Given the description of an element on the screen output the (x, y) to click on. 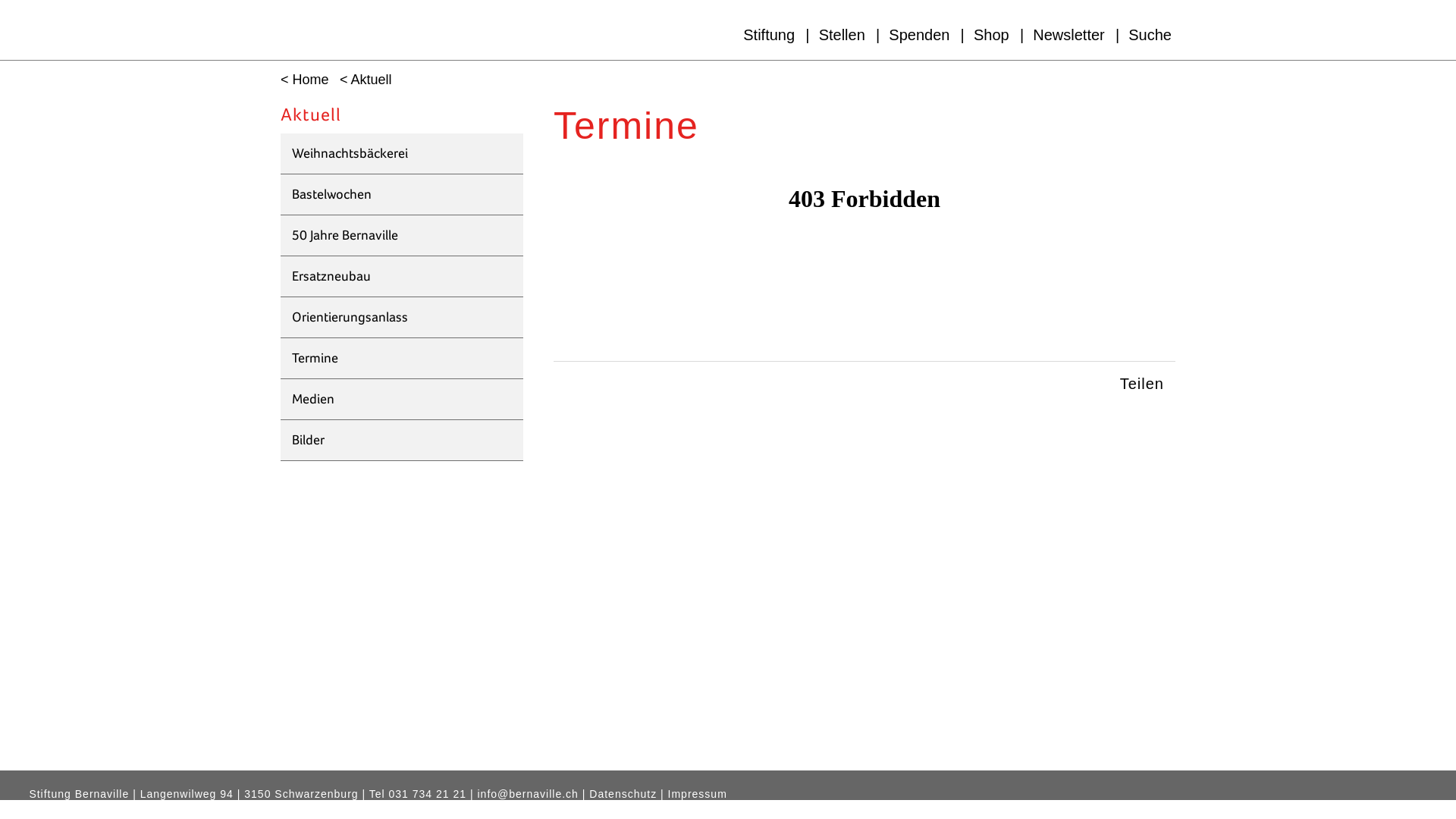
Impressum Element type: text (697, 793)
Suche Element type: text (1149, 34)
Orientierungsanlass Element type: text (401, 317)
Newsletter Element type: text (1068, 34)
info@bernaville.ch Element type: text (527, 793)
Stellen Element type: text (842, 34)
50 Jahre Bernaville Element type: text (401, 235)
< Home Element type: text (301, 79)
Datenschutz Element type: text (622, 793)
Ersatzneubau Element type: text (401, 276)
Bastelwochen Element type: text (401, 194)
Spenden Element type: text (918, 34)
calendar Element type: hover (864, 269)
Termine Element type: text (401, 358)
Stiftung Element type: text (768, 34)
Medien Element type: text (401, 399)
Bilder Element type: text (401, 440)
Shop Element type: text (991, 34)
< Aktuell Element type: text (362, 79)
